Given the description of an element on the screen output the (x, y) to click on. 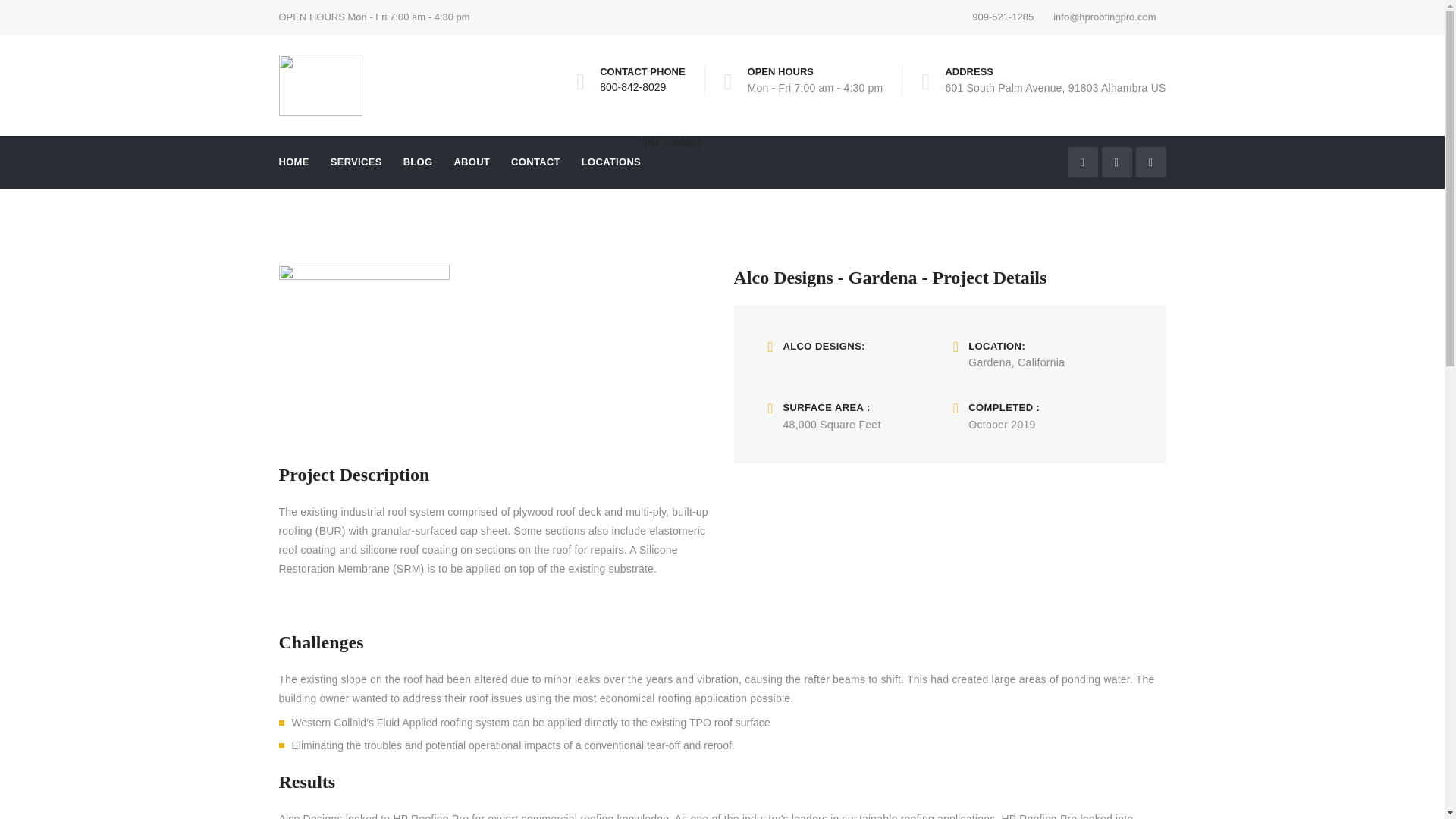
CONTACT (535, 162)
909-521-1285 (1002, 17)
LOCATIONS (610, 162)
SERVICES (355, 162)
800-842-8029 (632, 87)
